Given the description of an element on the screen output the (x, y) to click on. 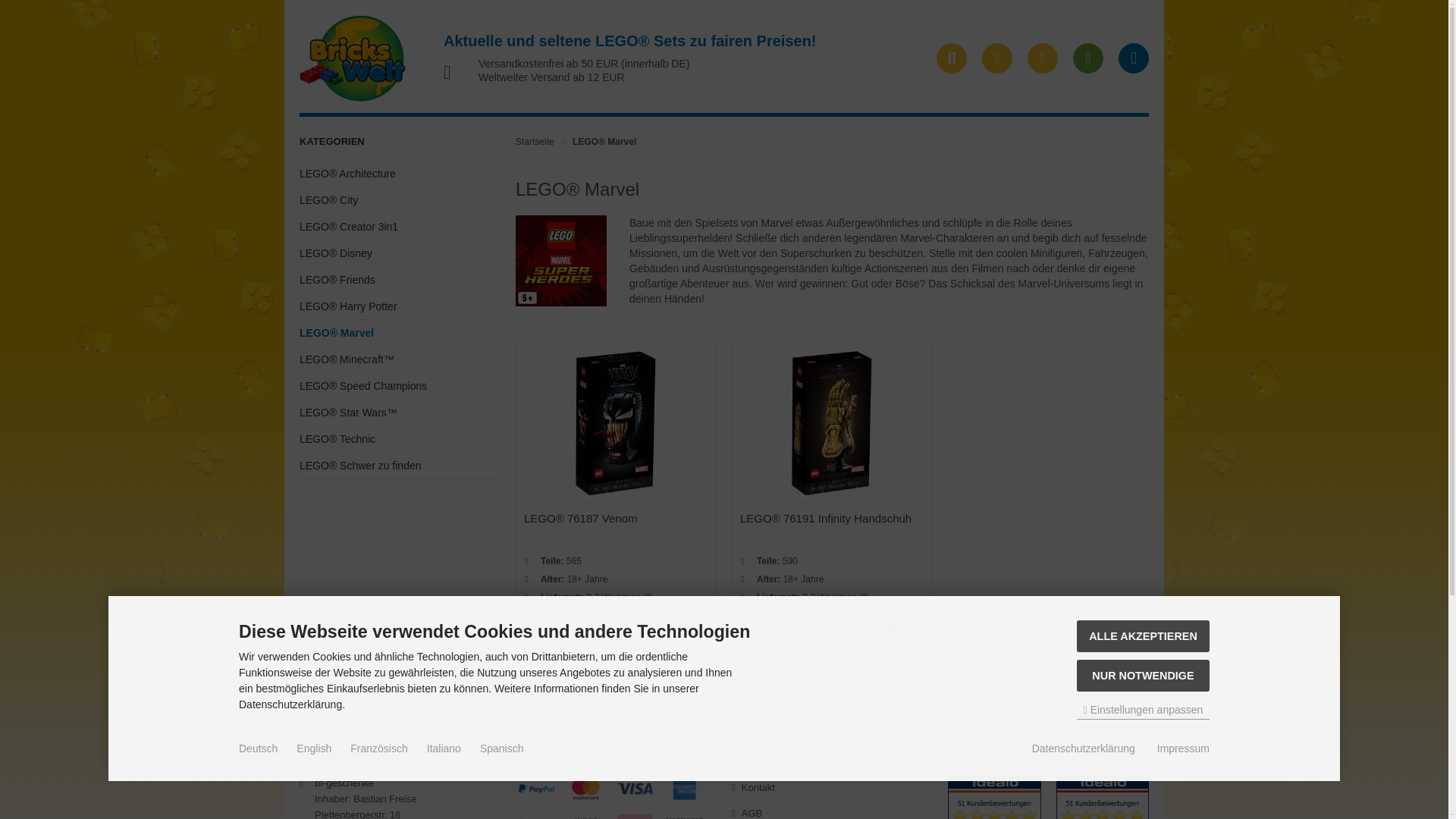
Versandkosten (684, 640)
AGB (832, 809)
Information (619, 597)
Kontakt (832, 787)
Mein Konto (1042, 58)
Suche (951, 58)
Mobile Menu (1133, 58)
Warenkorb (1088, 58)
Startseite (534, 141)
Meine Einstellungen (996, 58)
Information (684, 640)
Versandkosten (901, 640)
